Given the description of an element on the screen output the (x, y) to click on. 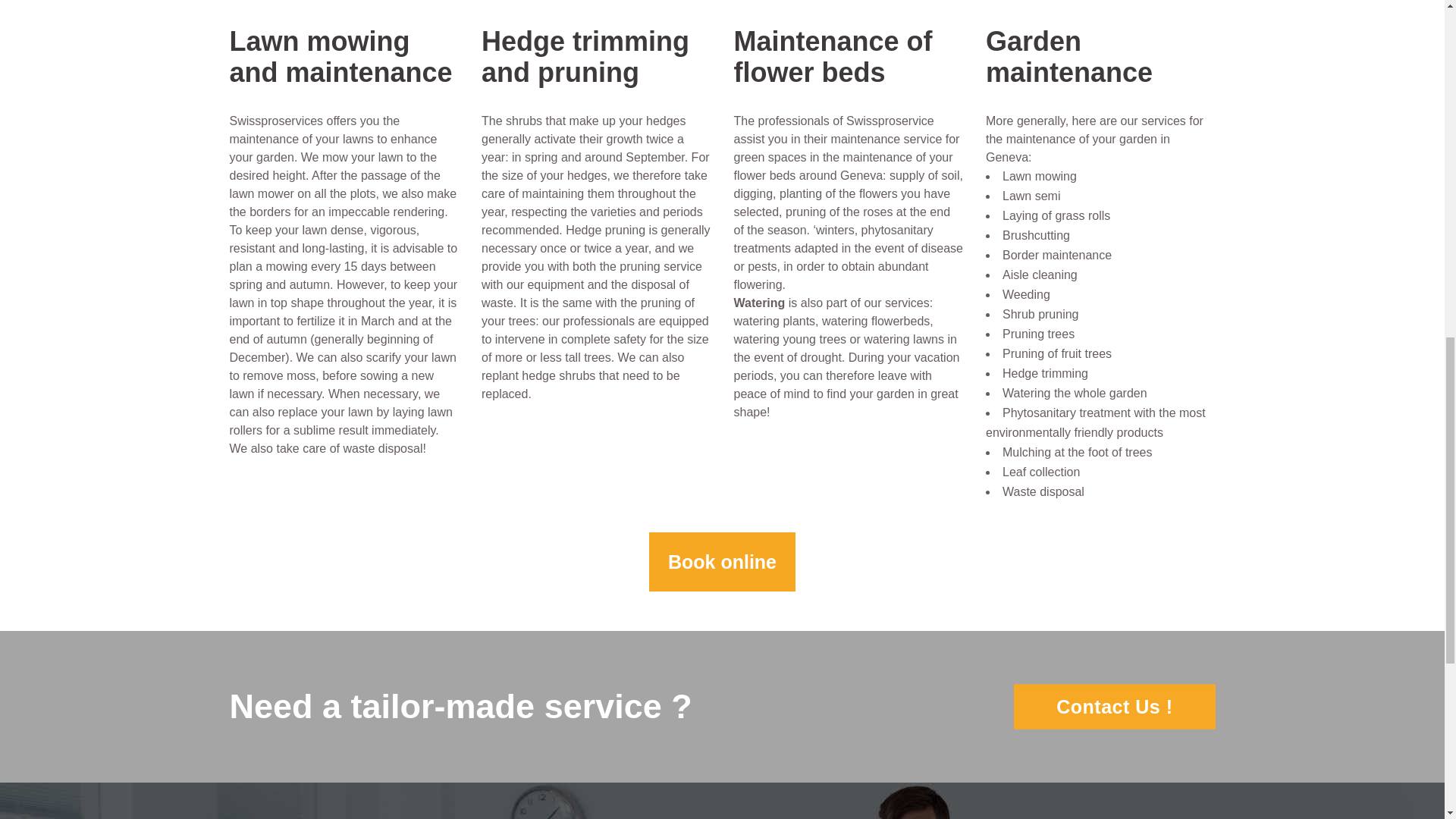
Book online (721, 562)
Contact Us ! (1113, 705)
